Given the description of an element on the screen output the (x, y) to click on. 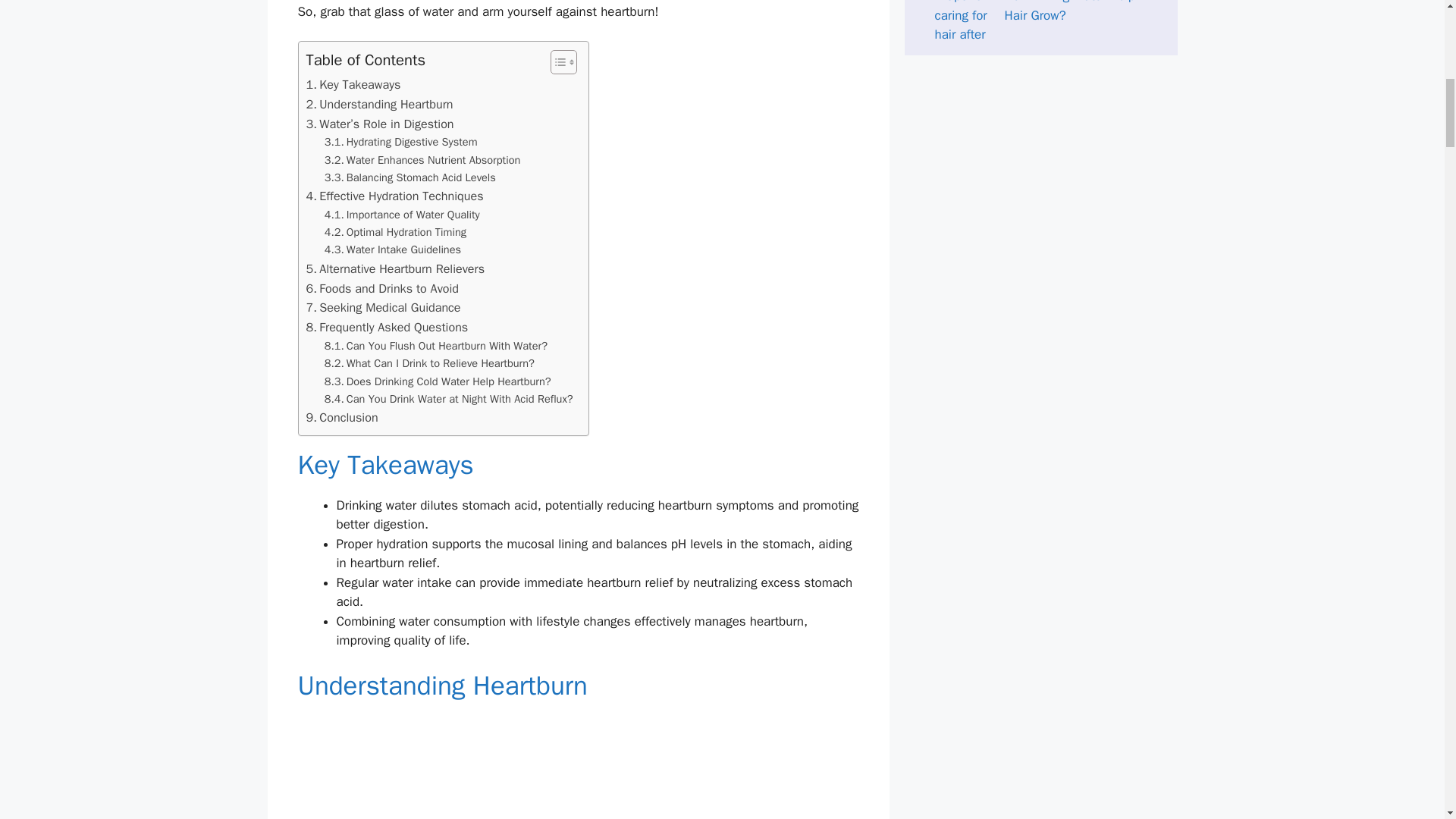
Seeking Medical Guidance (383, 307)
Hydrating Digestive System (400, 141)
Hydrating Digestive System (400, 141)
Balancing Stomach Acid Levels (410, 177)
Water Enhances Nutrient Absorption (422, 159)
Effective Hydration Techniques (394, 196)
Understanding Heartburn (378, 104)
Effective Hydration Techniques (394, 196)
Frequently Asked Questions (386, 327)
Optimal Hydration Timing (394, 231)
